Given the description of an element on the screen output the (x, y) to click on. 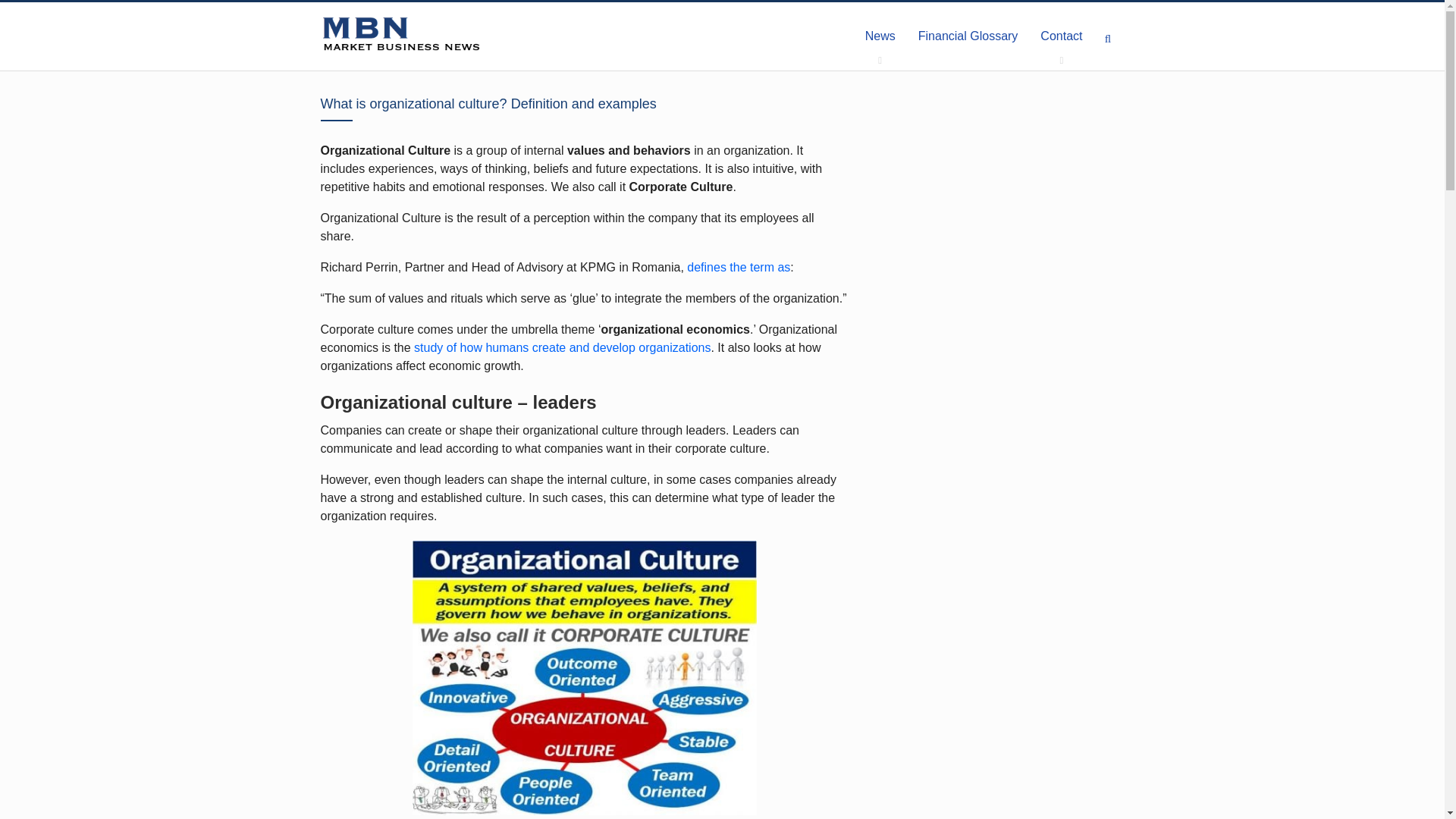
defines the term as (738, 267)
Contact (1061, 36)
study of how humans create and develop organizations (561, 347)
Financial Glossary (968, 36)
